Given the description of an element on the screen output the (x, y) to click on. 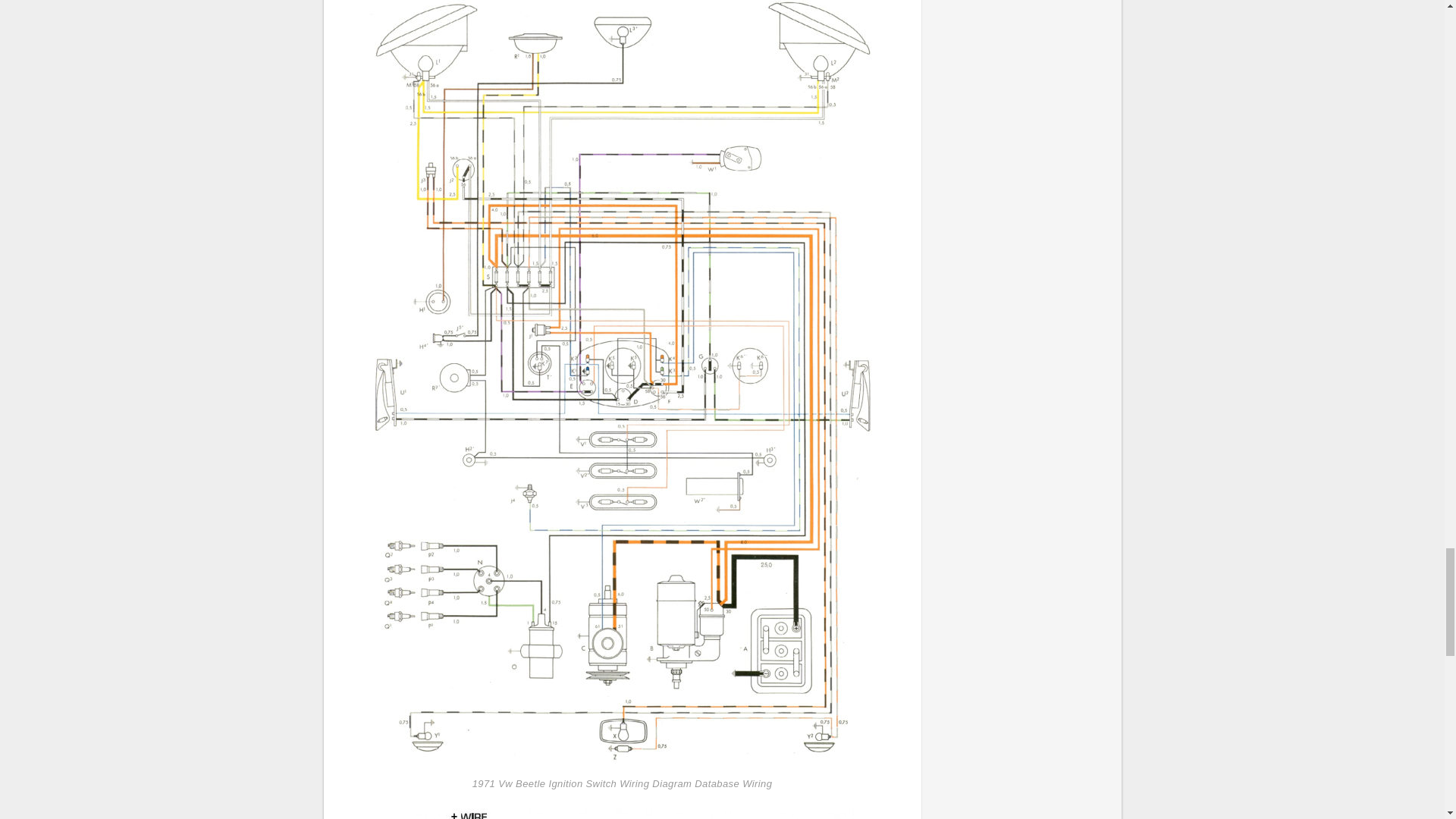
1971 Vw Beetle Ignition Switch Wiring Diagram Database (622, 813)
